Given the description of an element on the screen output the (x, y) to click on. 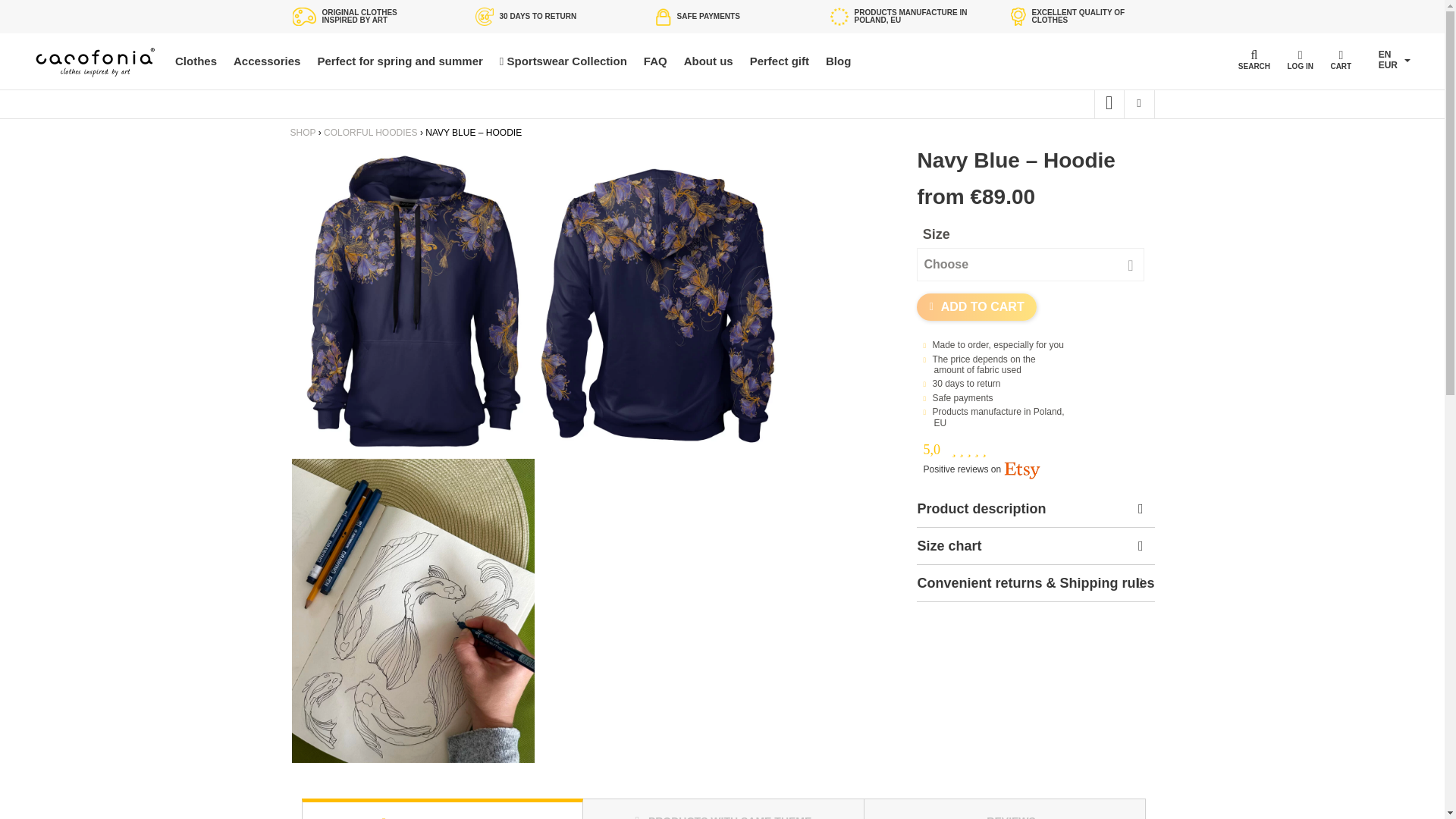
Perfect for spring and summer (399, 61)
PRODUCTS MANUFACTURE IN POLAND, EU (899, 16)
Accessories (265, 61)
Clothes (195, 61)
SAFE PAYMENTS (721, 16)
Clothes (195, 61)
30 DAYS TO RETURN (544, 16)
Accessories (265, 61)
FAQ (654, 61)
EXCELLENT QUALITY OF CLOTHES (1077, 16)
Perfect for spring and summer (399, 61)
About us (708, 61)
